Given the description of an element on the screen output the (x, y) to click on. 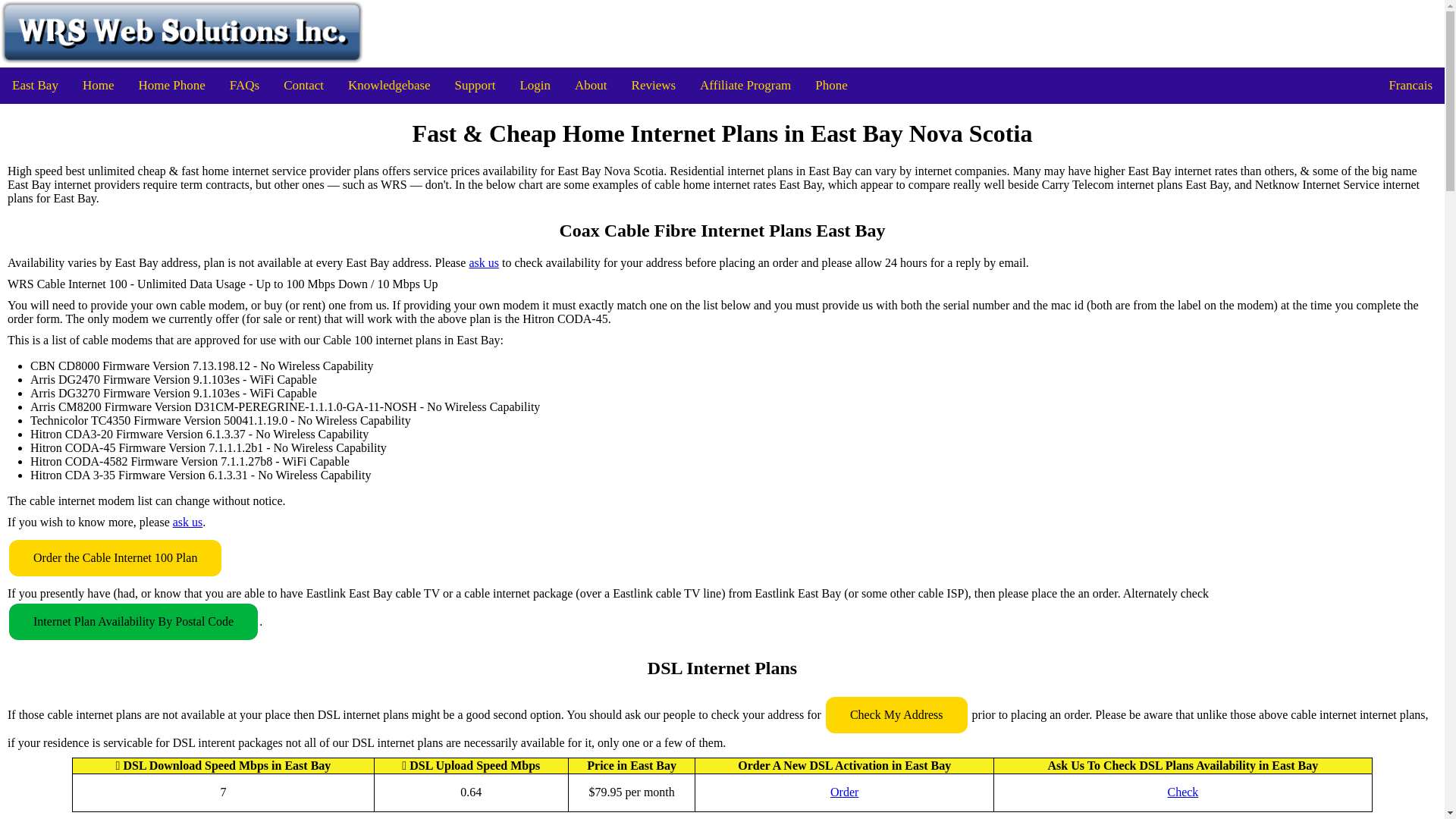
Order (844, 792)
Check My Address (896, 714)
Knowledgebase (389, 85)
Reviews (654, 85)
ask us (188, 522)
ask us (483, 263)
Phone (831, 85)
Login (534, 85)
About (591, 85)
Home (97, 85)
